Given the description of an element on the screen output the (x, y) to click on. 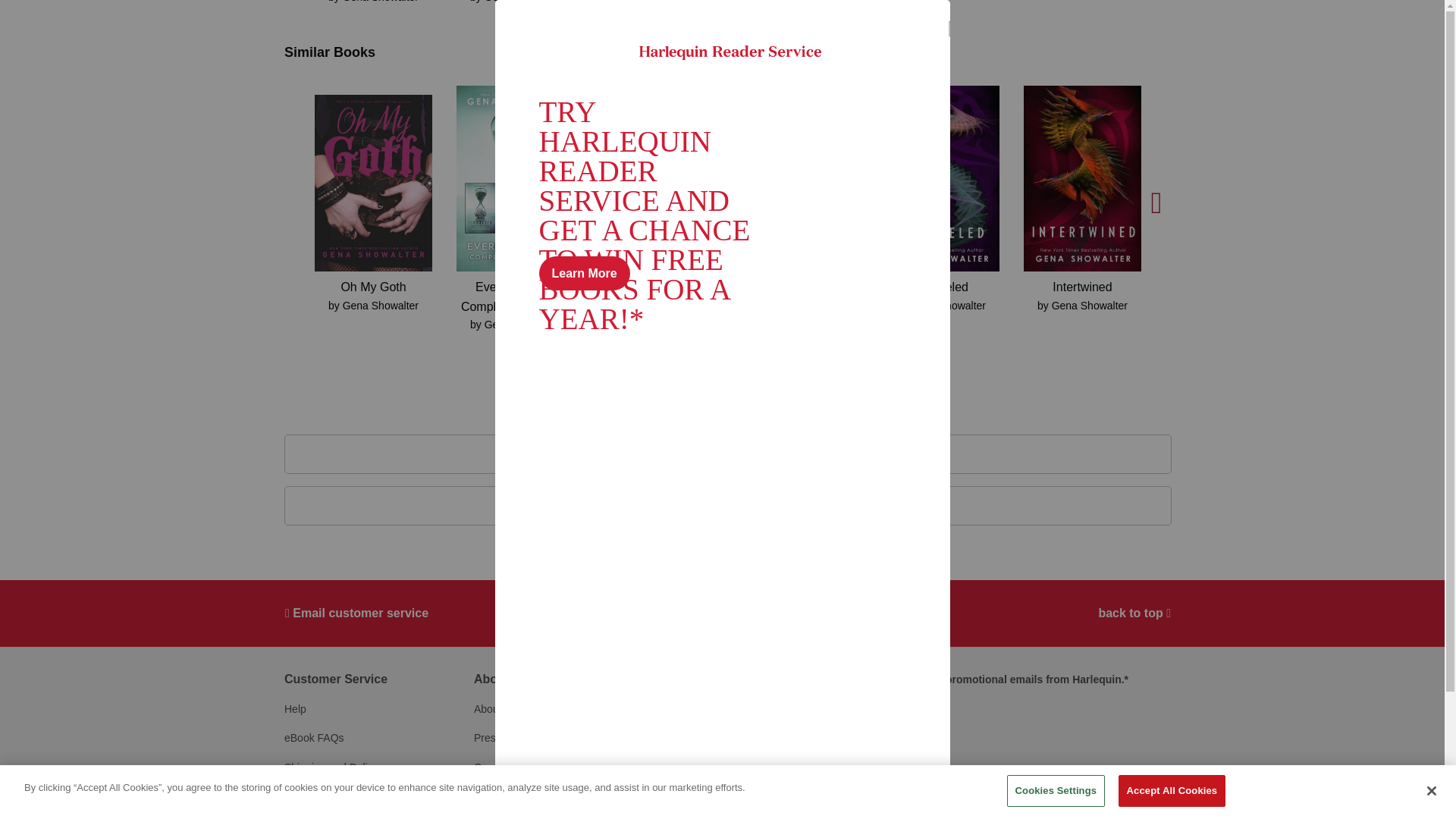
Search for other content by Gena Showalter (380, 1)
Search for other content by Gena Showalter (522, 1)
